Given the description of an element on the screen output the (x, y) to click on. 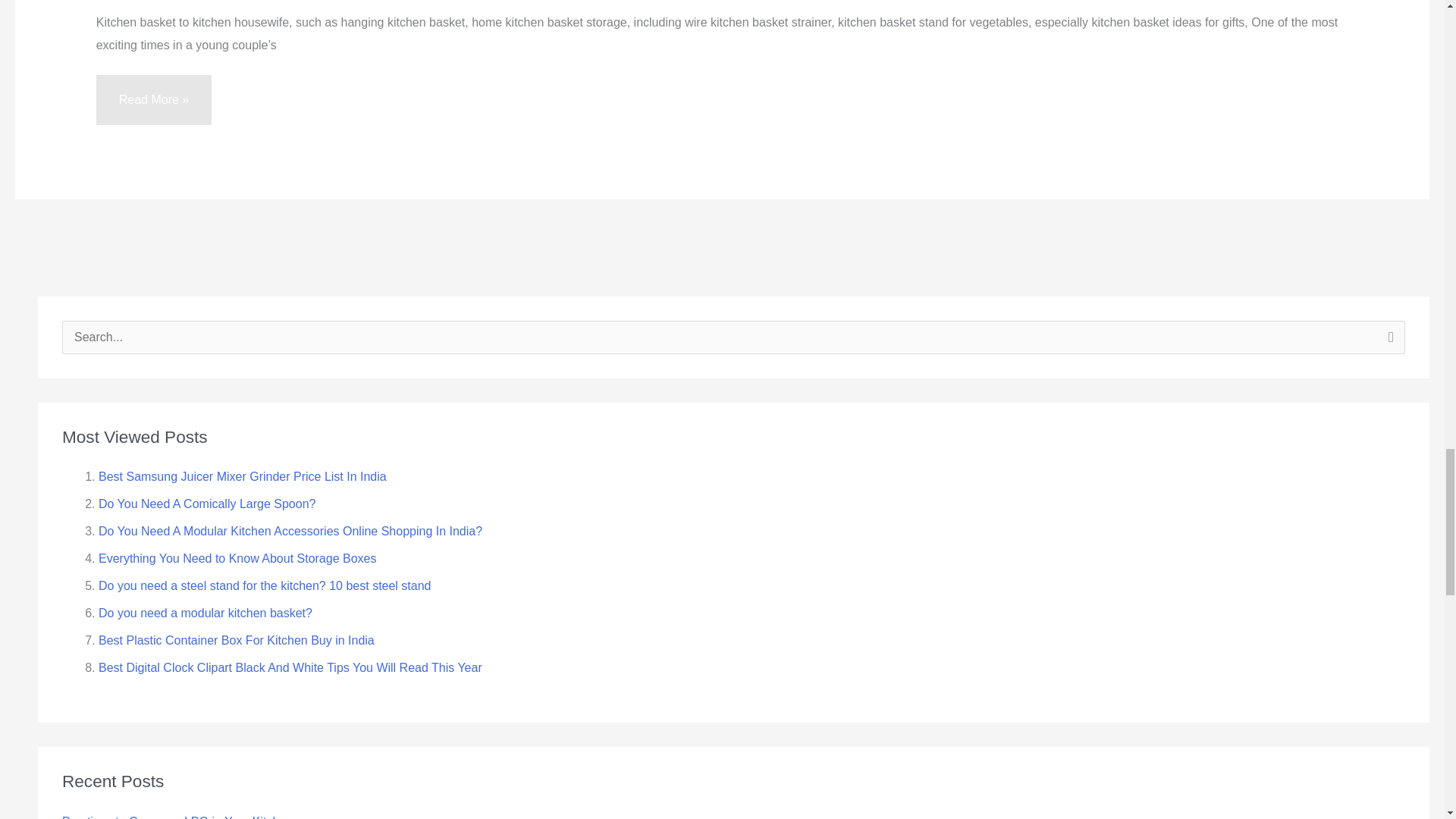
Best Samsung Juicer Mixer Grinder Price List In India (243, 476)
Do You Need A Comically Large Spoon? (207, 503)
Best Plastic Container Box For Kitchen Buy in India (236, 640)
Everything You Need to Know About Storage Boxes (237, 558)
Practices to Conserve LPG in Your Kitchen (177, 816)
Do you need a modular kitchen basket? (206, 612)
